Given the description of an element on the screen output the (x, y) to click on. 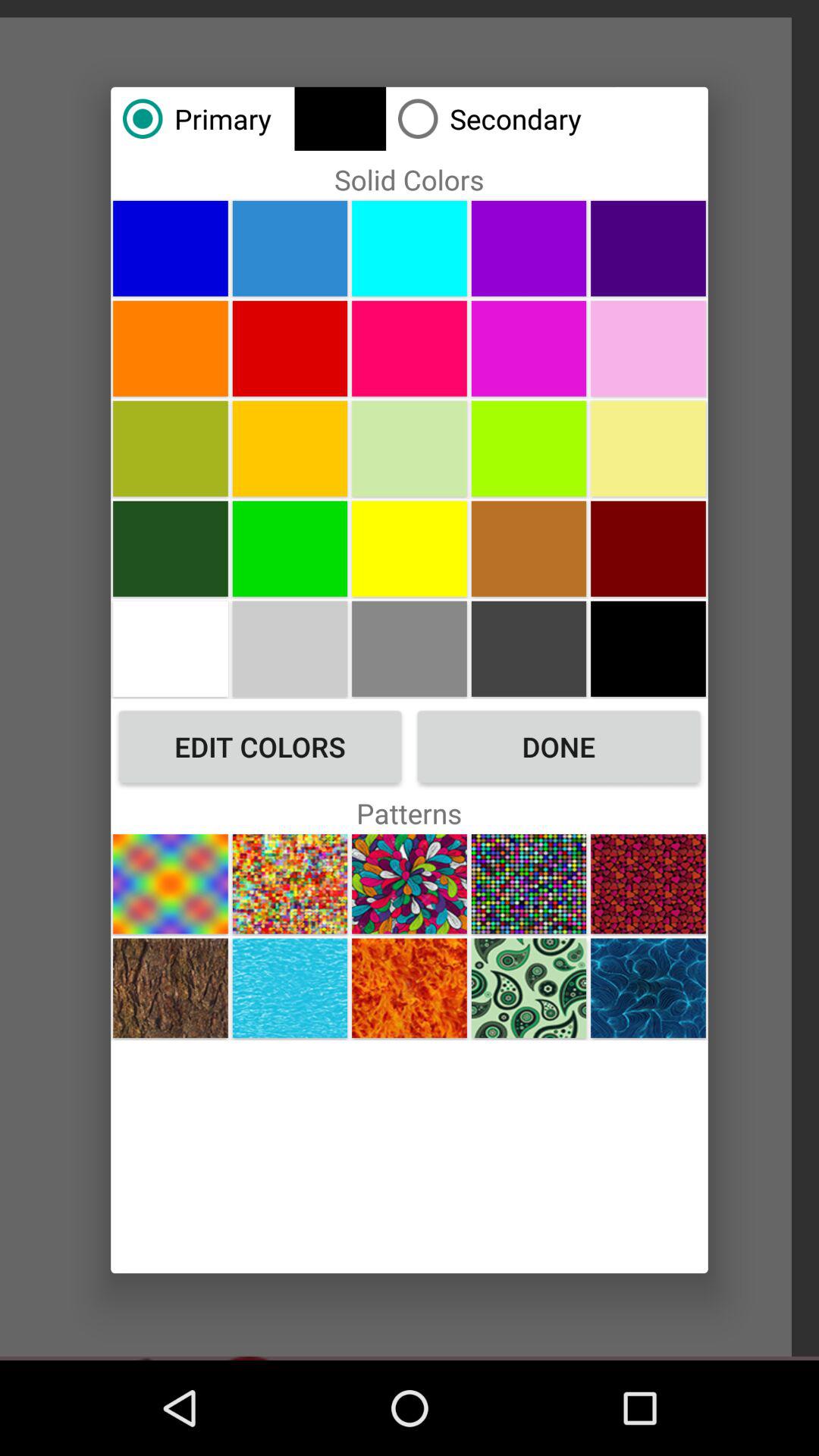
select color light yellow (647, 448)
